Given the description of an element on the screen output the (x, y) to click on. 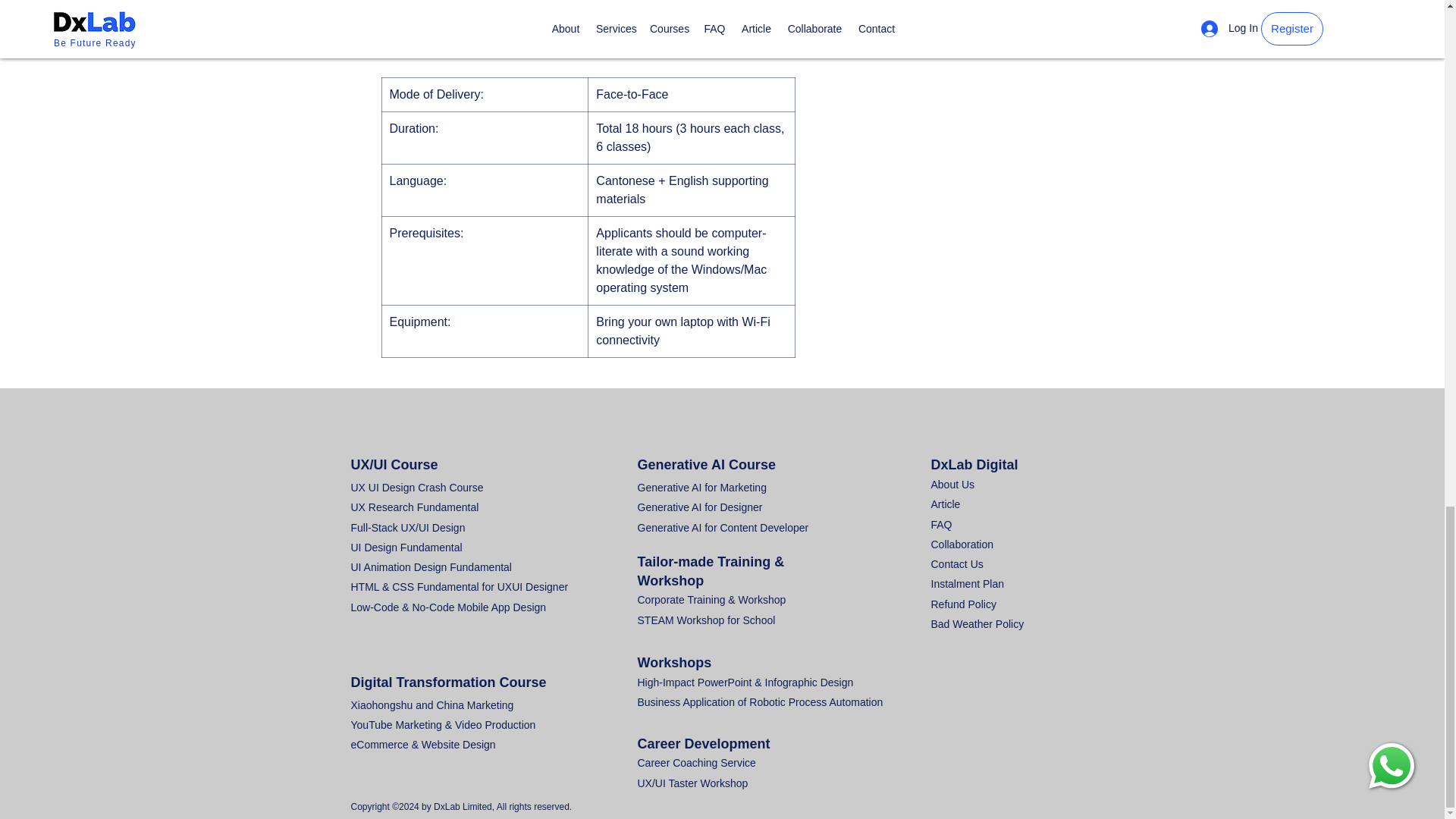
UX UI Design Crash Course (416, 487)
Generative AI for Designer (699, 507)
About Us (953, 484)
Article (945, 503)
UI Design Fundamental (405, 547)
UI Animation Design Fundamental (430, 567)
Generative AI for Content Developer (722, 527)
UX Research Fundamental (414, 507)
Generative AI for Marketing (701, 487)
